Given the description of an element on the screen output the (x, y) to click on. 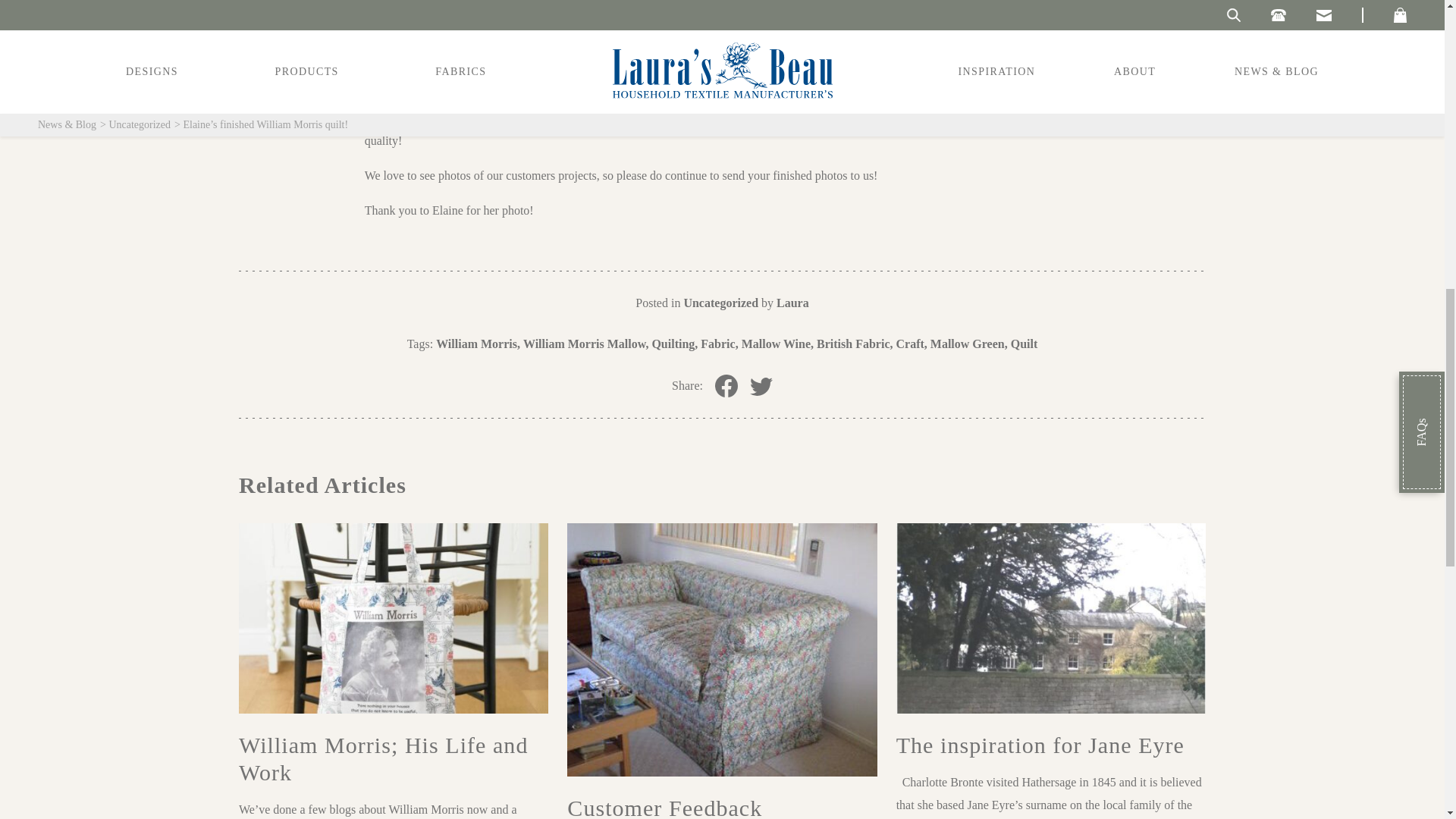
British Fabric (854, 343)
Fabric (719, 343)
William Morris (477, 343)
Uncategorized (720, 302)
Mallow Wine (777, 343)
Quilting (673, 343)
Quilt (1024, 343)
here (754, 82)
Mallow Green (968, 343)
Craft (911, 343)
